Given the description of an element on the screen output the (x, y) to click on. 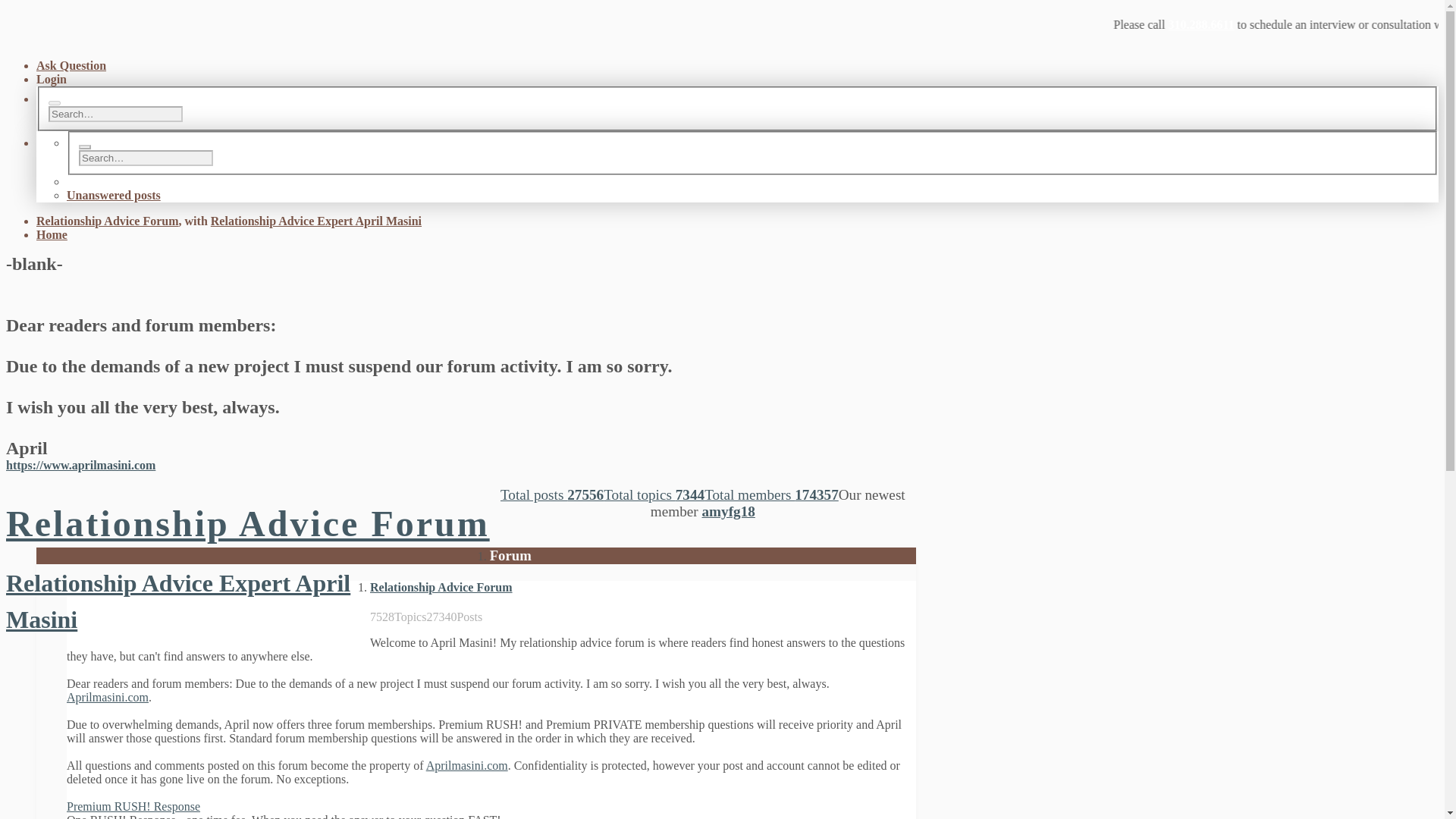
Login (51, 78)
Search (54, 102)
Aprilmasini.com (107, 697)
Ask Question (71, 65)
Total members 174357 (771, 494)
Unanswered posts (113, 195)
Home (51, 234)
Relationship Advice Forum (440, 586)
amyfg18 (728, 511)
Premium RUSH! Response (133, 806)
Total posts 27556 (552, 494)
Search (84, 146)
Search for keywords (145, 157)
Aprilmasini.com (467, 765)
View forum (440, 586)
